Given the description of an element on the screen output the (x, y) to click on. 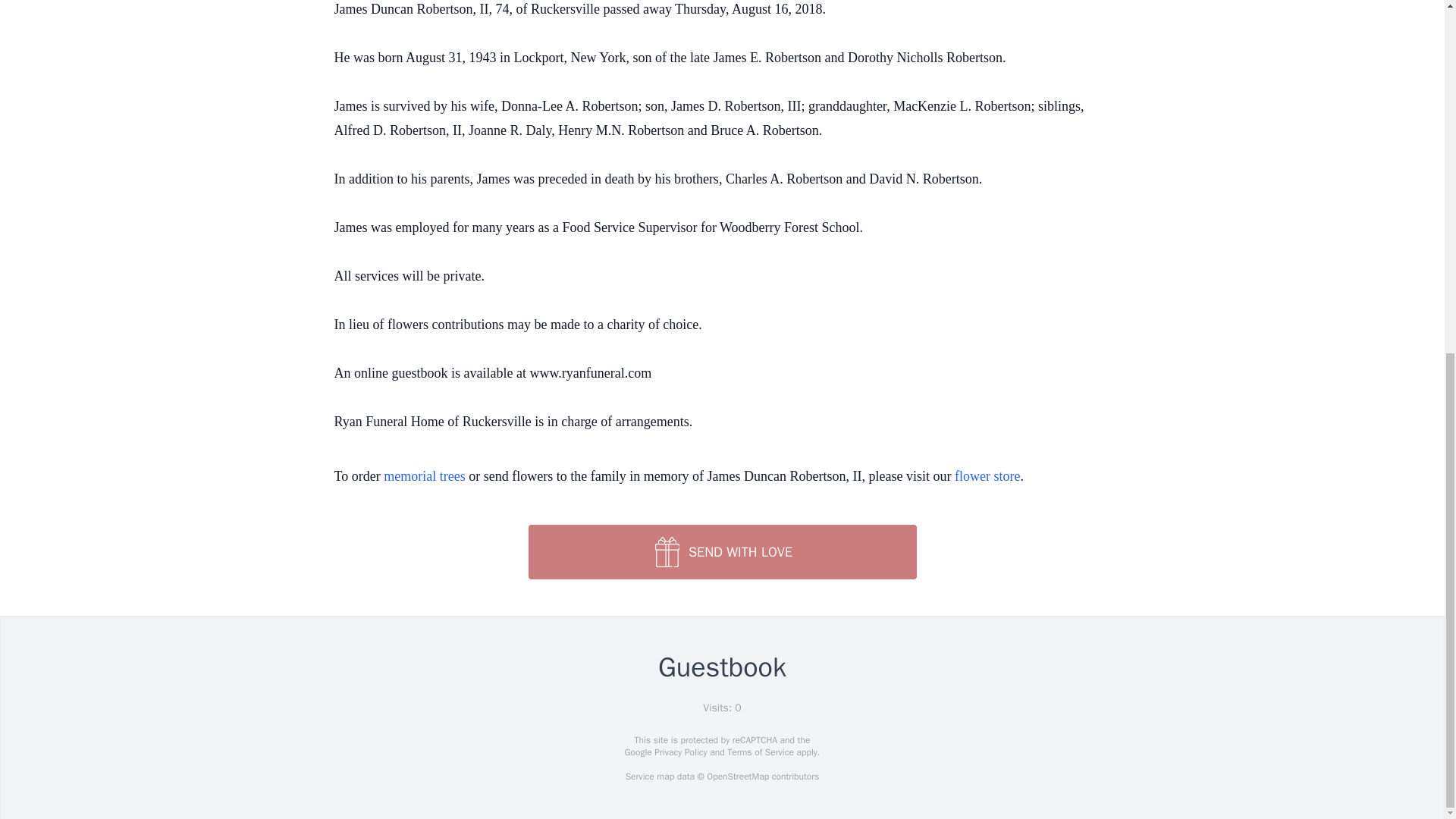
SEND WITH LOVE (721, 551)
memorial trees (424, 476)
Privacy Policy (679, 752)
flower store (987, 476)
OpenStreetMap (737, 776)
Terms of Service (759, 752)
